Given the description of an element on the screen output the (x, y) to click on. 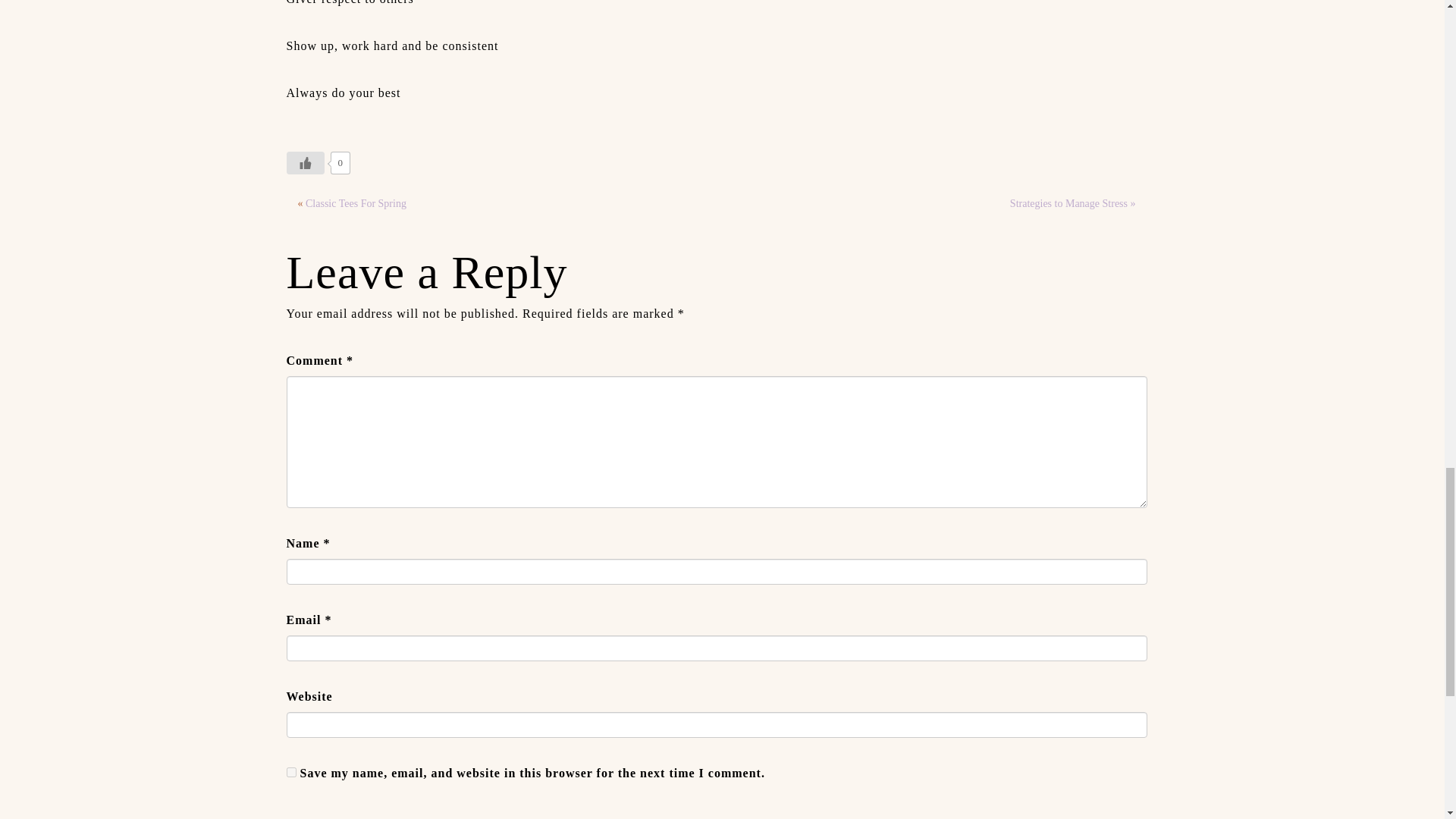
yes (291, 772)
Classic Tees For Spring (355, 203)
Strategies to Manage Stress (1068, 203)
